Given the description of an element on the screen output the (x, y) to click on. 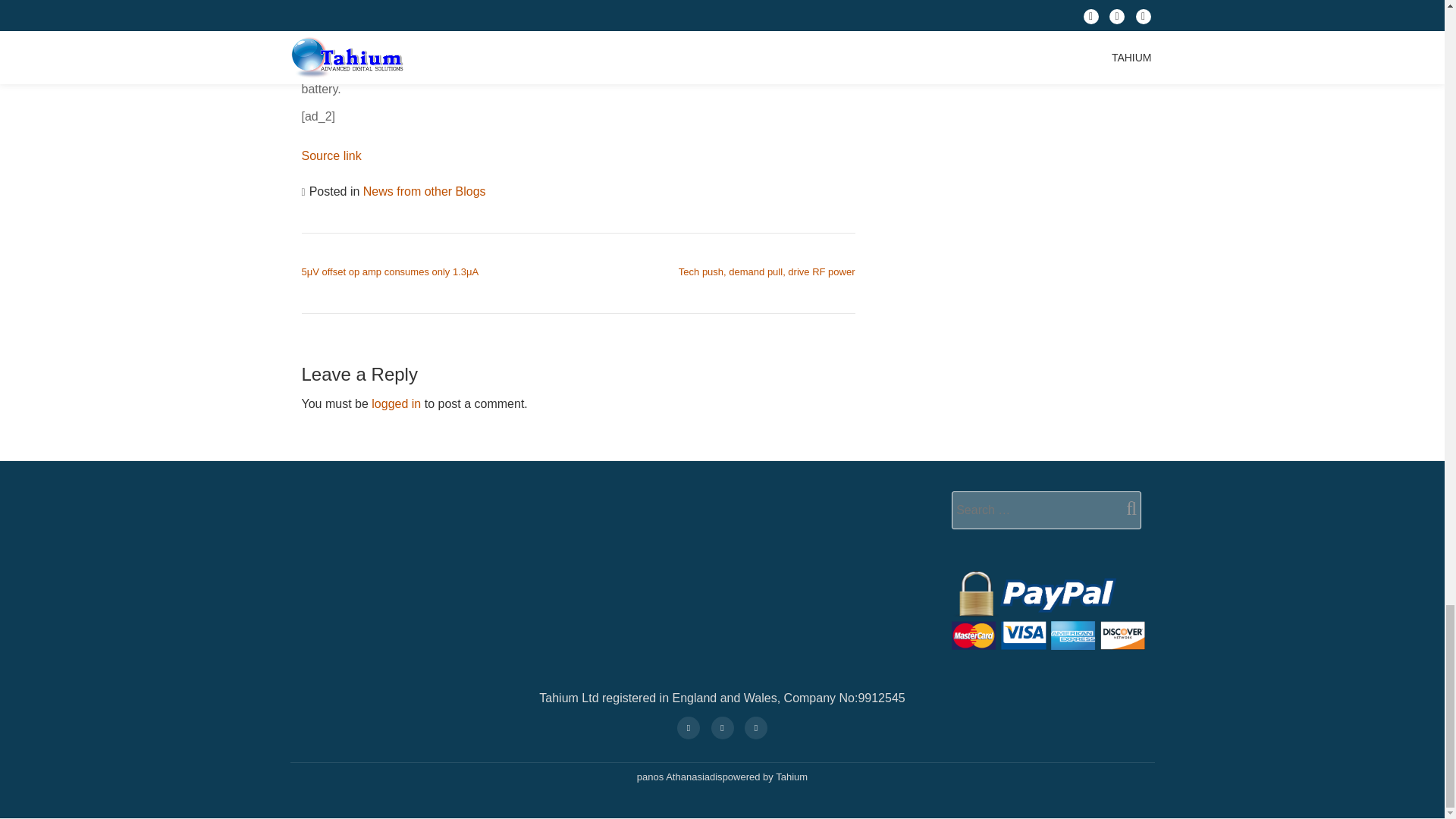
Search (1125, 507)
Source link (331, 155)
News from other Blogs (424, 191)
Search (1125, 507)
logged in (395, 403)
OnePlus 5 (469, 10)
fa-google-plus-square (687, 726)
Tech push, demand pull, drive RF power (767, 271)
Search (1125, 507)
